Given the description of an element on the screen output the (x, y) to click on. 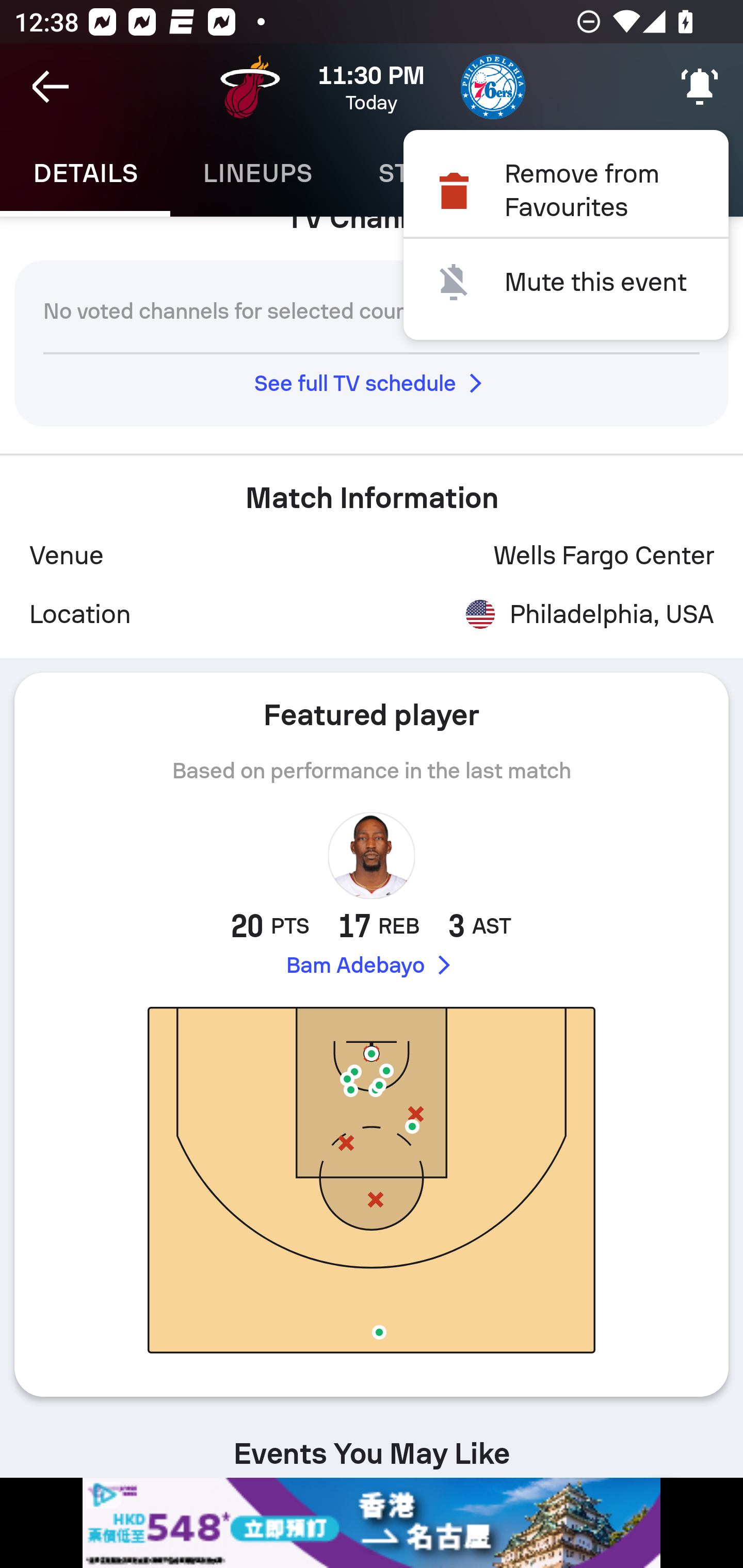
Remove from Favourites (565, 190)
Mute this event (565, 282)
